Given the description of an element on the screen output the (x, y) to click on. 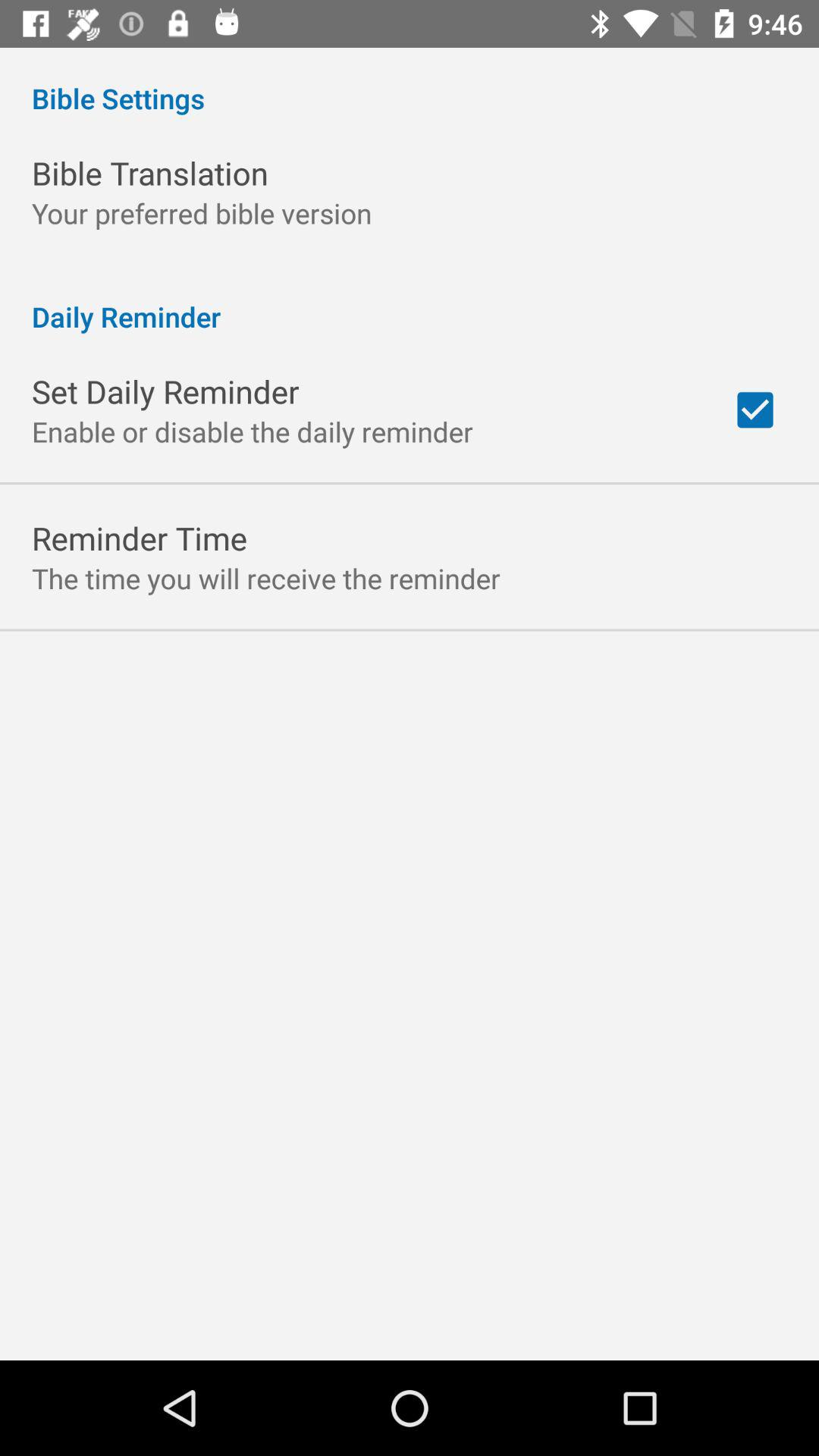
launch enable or disable icon (252, 431)
